Given the description of an element on the screen output the (x, y) to click on. 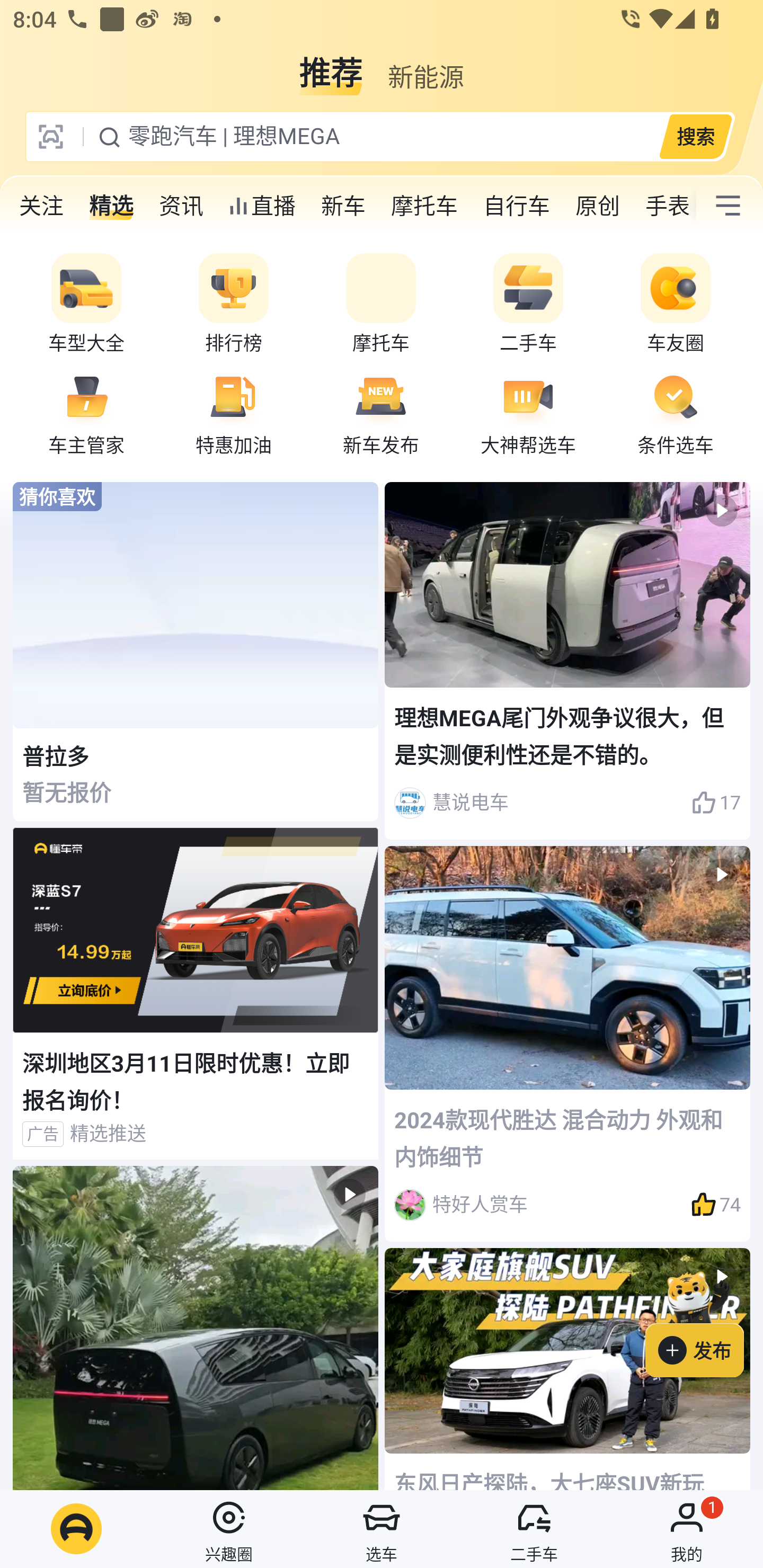
推荐 (330, 65)
新能源 (425, 65)
搜索 (695, 136)
关注 (41, 205)
精选 (111, 205)
资讯 (180, 205)
直播 (261, 205)
新车 (343, 205)
摩托车 (424, 205)
自行车 (516, 205)
原创 (597, 205)
手表 (663, 205)
 (727, 205)
车型大全 (86, 303)
排行榜 (233, 303)
摩托车 (380, 303)
二手车 (528, 303)
车友圈 (675, 303)
车主管家 (86, 412)
特惠加油 (233, 412)
新车发布 (380, 412)
大神帮选车 (528, 412)
条件选车 (675, 412)
猜你喜欢 普拉多 暂无报价 (195, 651)
 理想MEGA尾门外观争议很大，但是实测便利性还是不错的。 慧说电车 17 (567, 659)
17 (715, 802)
深圳地区3月11日限时优惠！立即报名询价！ 广告 精选推送 (195, 993)
 2024款现代胜达 混合动力 外观和内饰细节 特好人赏车 74 (567, 1043)
 (195, 1327)
74 (715, 1204)
 东风日产探陆，大七座SUV新玩家！ (567, 1368)
发布 (704, 1320)
 兴趣圈 (228, 1528)
 选车 (381, 1528)
 二手车 (533, 1528)
 我的 (686, 1528)
